Given the description of an element on the screen output the (x, y) to click on. 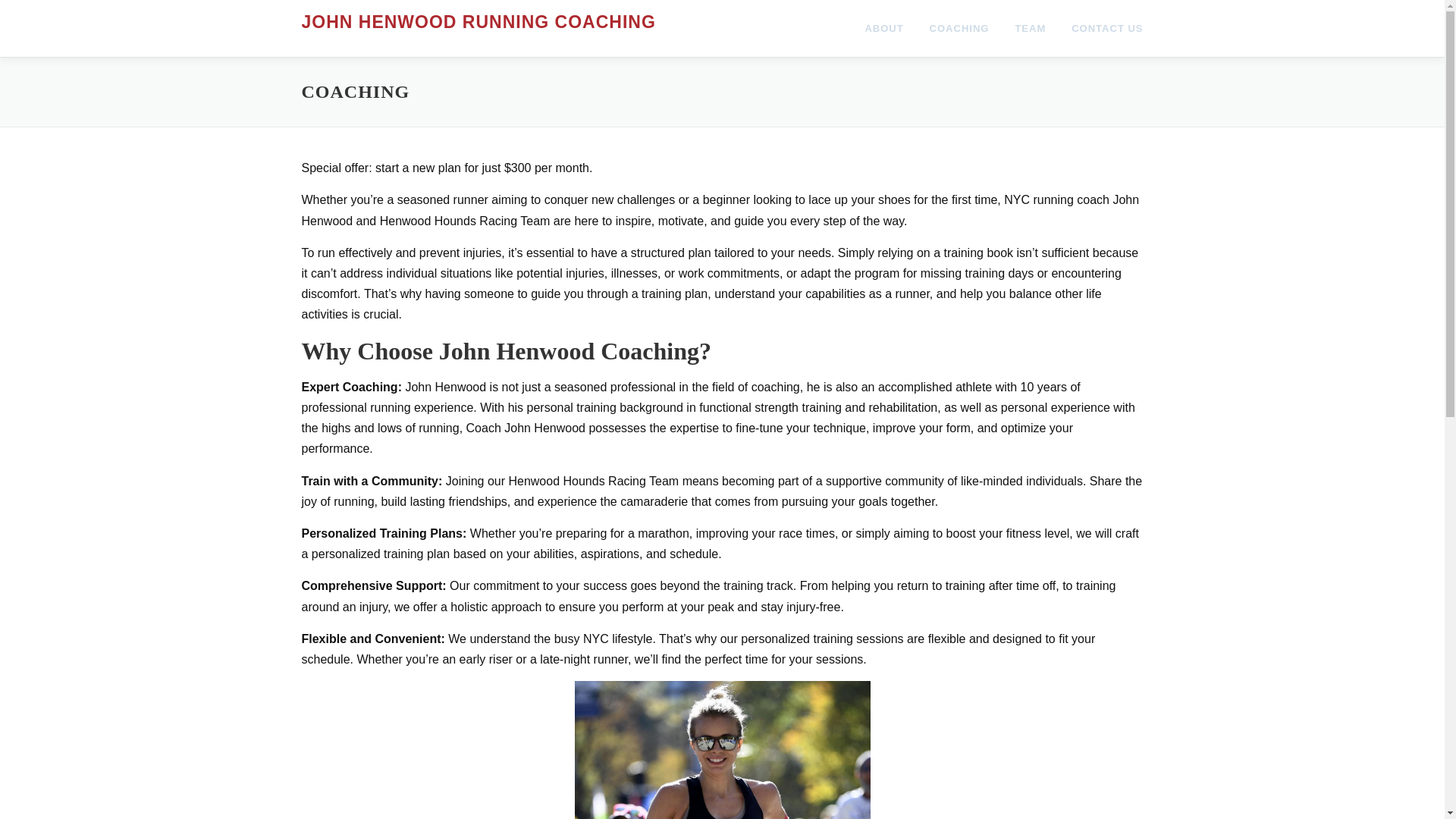
JOHN HENWOOD RUNNING COACHING (478, 21)
TEAM (1029, 28)
COACHING (960, 28)
CONTACT US (1100, 28)
ABOUT (883, 28)
